Given the description of an element on the screen output the (x, y) to click on. 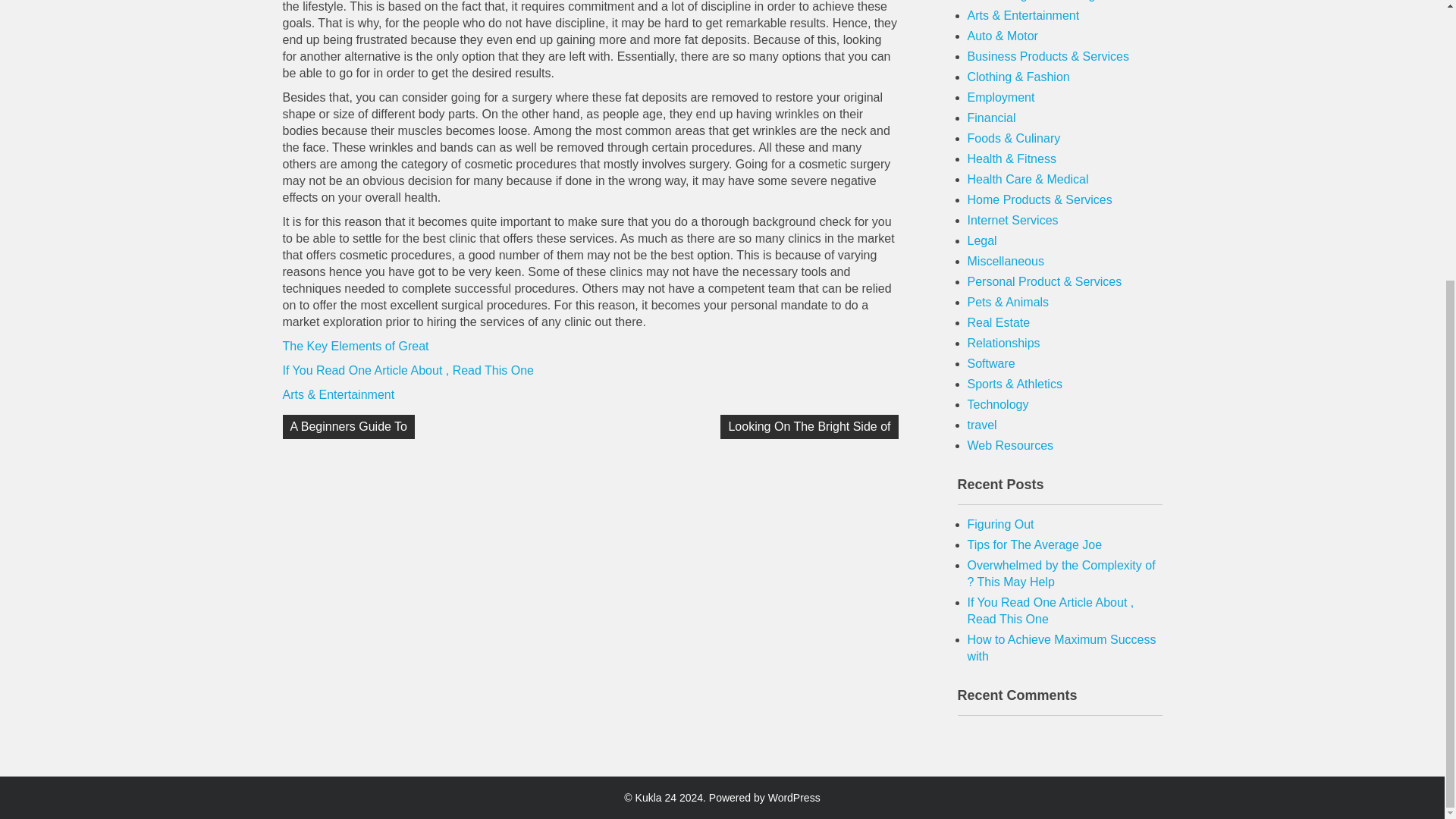
Real Estate (999, 322)
If You Read One Article About , Read This One (407, 369)
Looking On The Bright Side of (809, 426)
Legal (982, 240)
Software (991, 363)
Miscellaneous (1005, 260)
Financial (992, 117)
Relationships (1004, 342)
The Key Elements of Great (355, 345)
Internet Services (1013, 219)
